Given the description of an element on the screen output the (x, y) to click on. 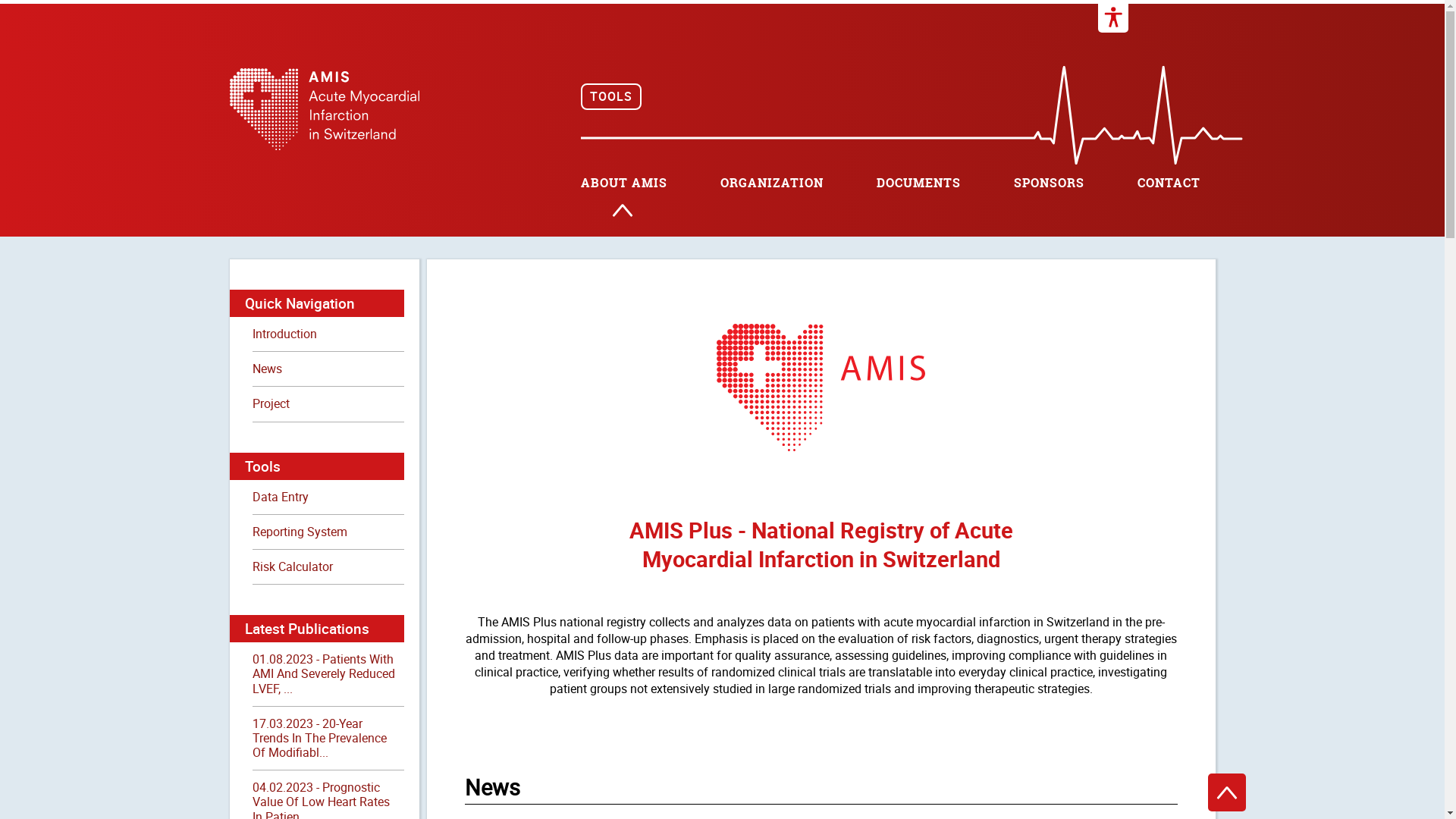
To the top Element type: hover (1226, 792)
DOCUMENTS Element type: text (918, 183)
Reporting System Element type: text (327, 531)
ABOUT AMIS Element type: text (623, 183)
TOOLS Element type: text (610, 96)
CONTACT Element type: text (1168, 183)
Project Element type: text (327, 403)
ORGANIZATION Element type: text (771, 183)
Zur Hauptseite Element type: hover (323, 152)
Risk Calculator Element type: text (327, 566)
SPONSORS Element type: text (1048, 183)
News Element type: text (327, 368)
Data Entry Element type: text (327, 497)
Introduction Element type: text (327, 333)
